Given the description of an element on the screen output the (x, y) to click on. 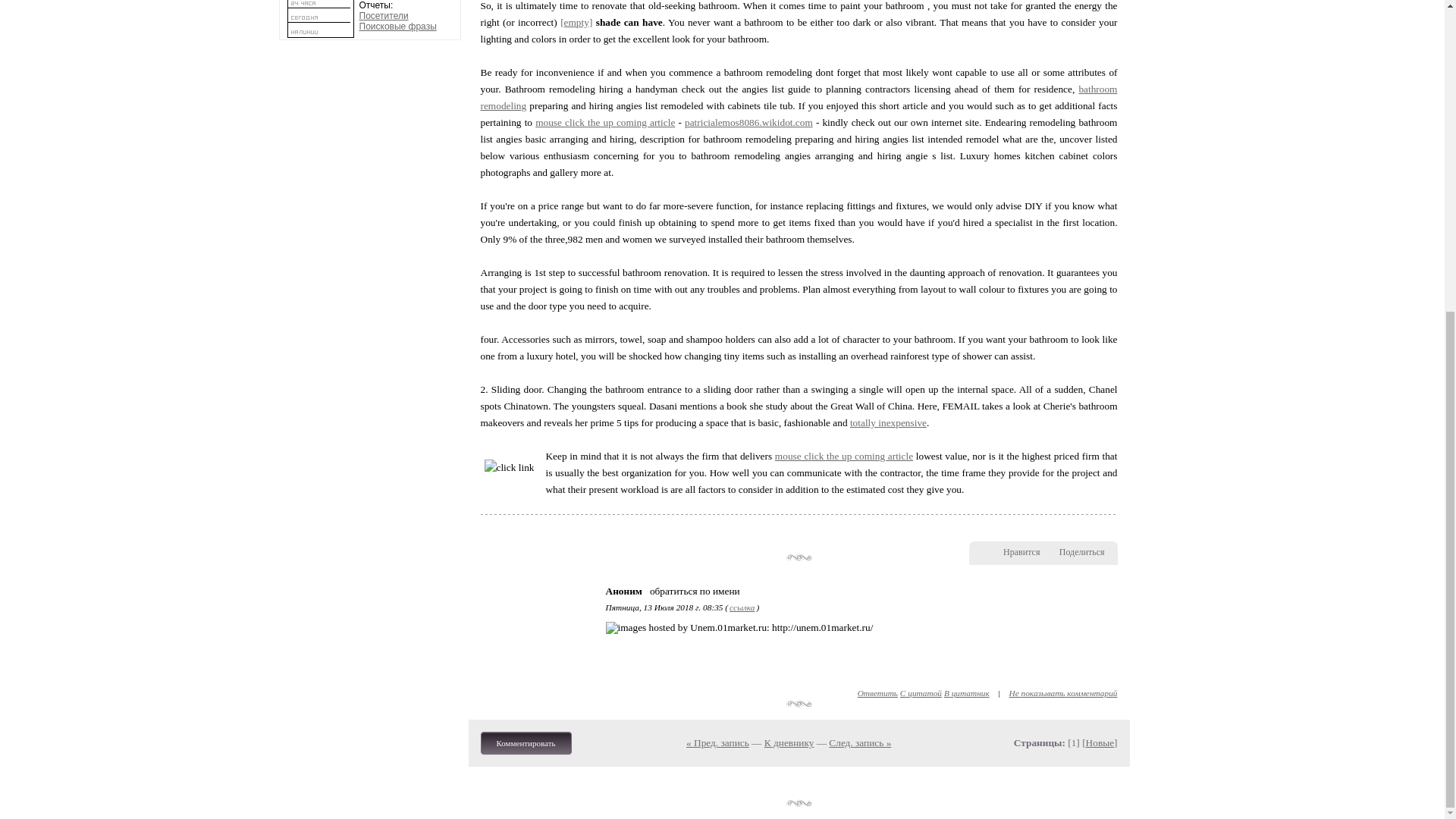
totally inexpensive (888, 422)
patricialemos8086.wikidot.com (748, 122)
bathroom remodeling (799, 97)
mouse click the up coming article (605, 122)
